Given the description of an element on the screen output the (x, y) to click on. 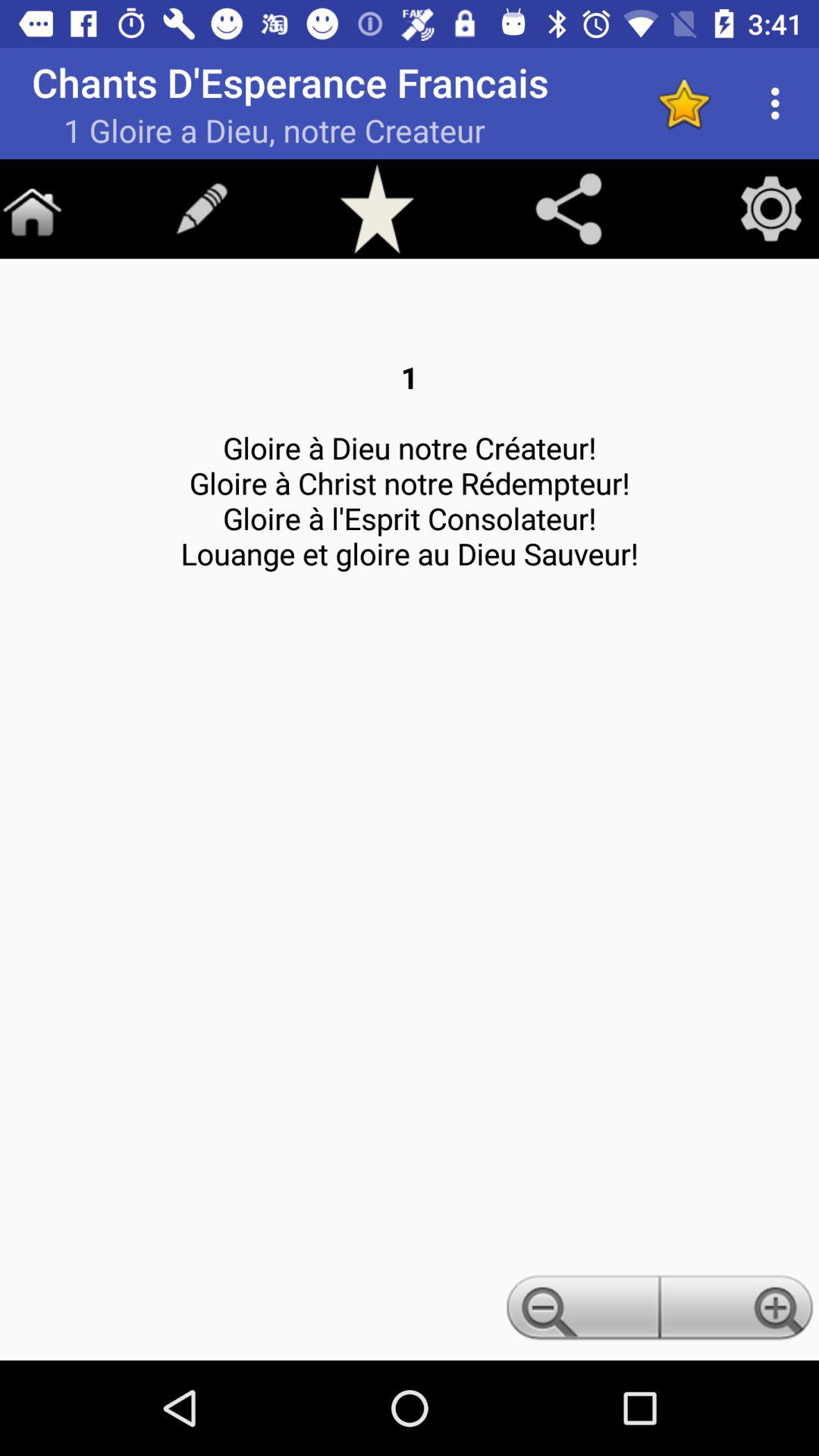
select app below the 1 gloire a item (31, 208)
